Given the description of an element on the screen output the (x, y) to click on. 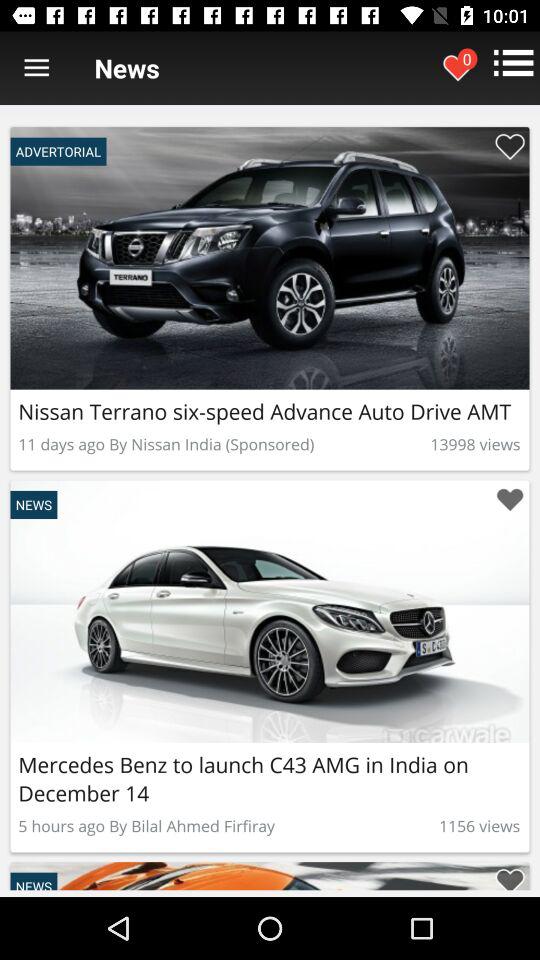
press icon to the left of the news icon (36, 68)
